Given the description of an element on the screen output the (x, y) to click on. 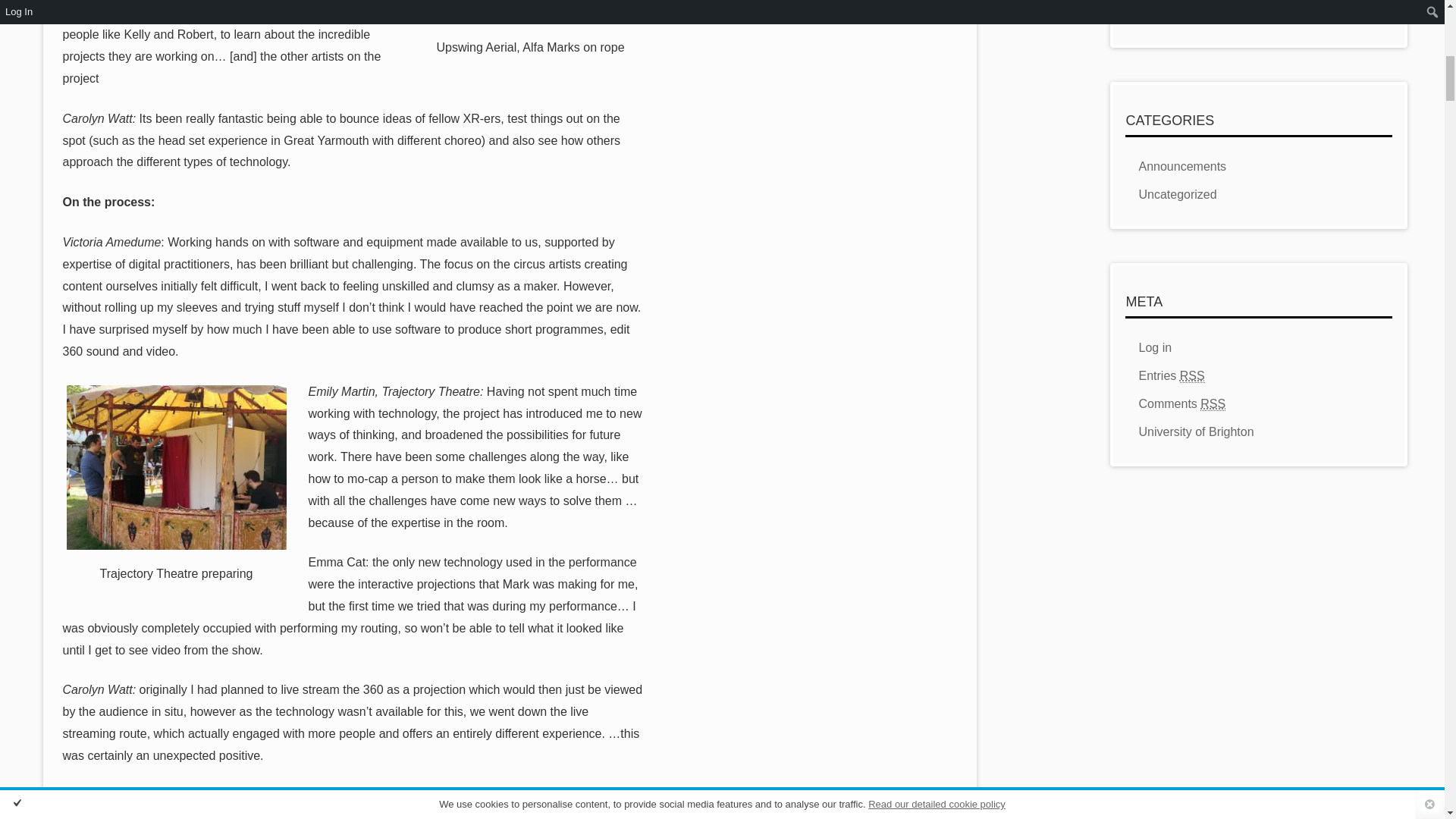
Really Simple Syndication (1212, 404)
The latest comments to all posts in RSS (1181, 404)
Really Simple Syndication (1192, 376)
Powered by University of Brighton (1195, 431)
Syndicate this site using RSS 2.0 (1171, 376)
